Given the description of an element on the screen output the (x, y) to click on. 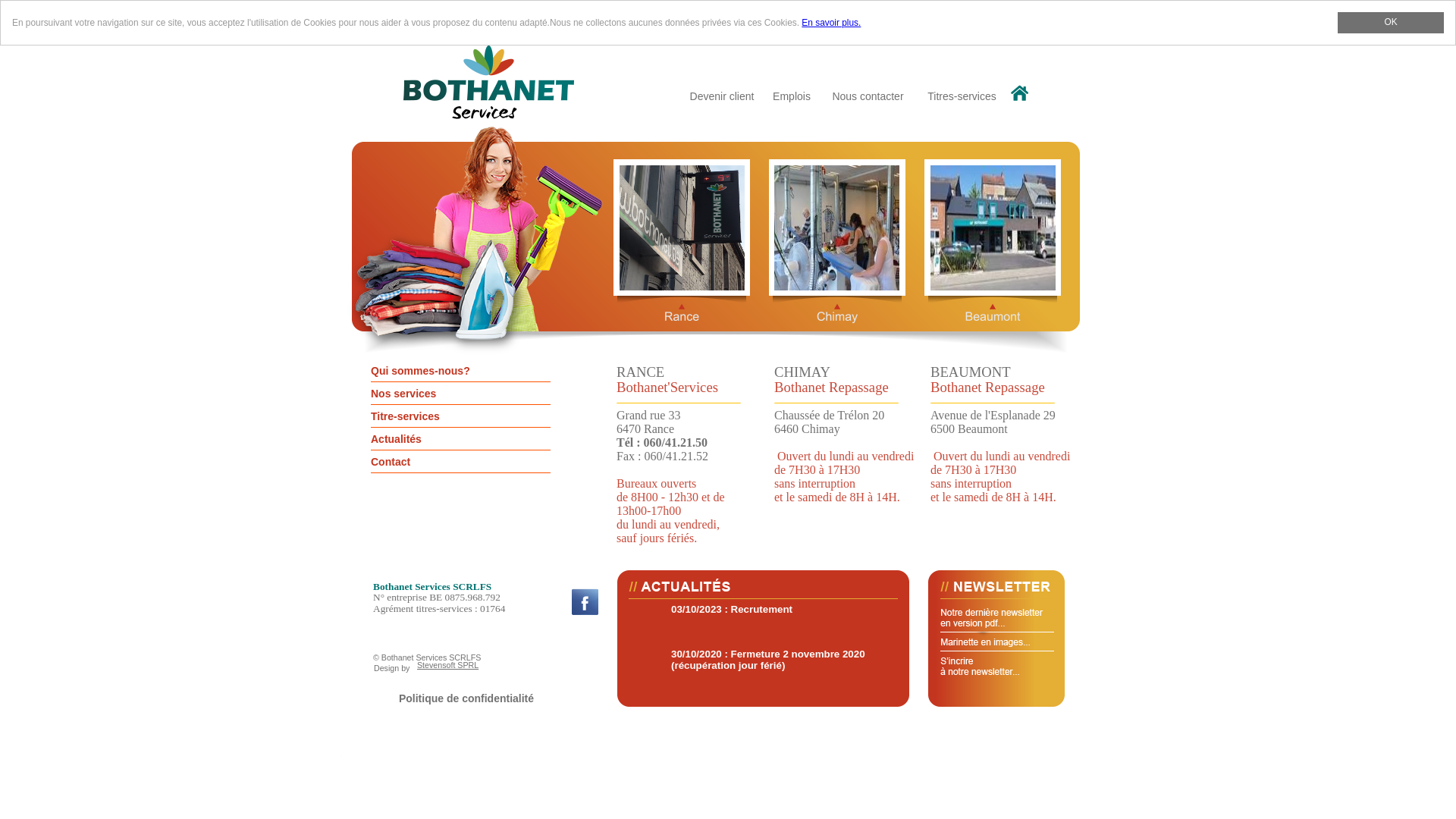
Qui sommes-nous? Element type: text (460, 371)
Titres-services Element type: text (961, 95)
Titre-services Element type: text (460, 416)
Devenir client Element type: text (721, 95)
Nous contacter Element type: text (867, 95)
Stevensoft SPRL Element type: text (447, 664)
Nos services Element type: text (460, 393)
En savoir plus. Element type: text (830, 22)
OK Element type: text (1390, 22)
Emplois Element type: text (791, 95)
Contact Element type: text (460, 462)
